Given the description of an element on the screen output the (x, y) to click on. 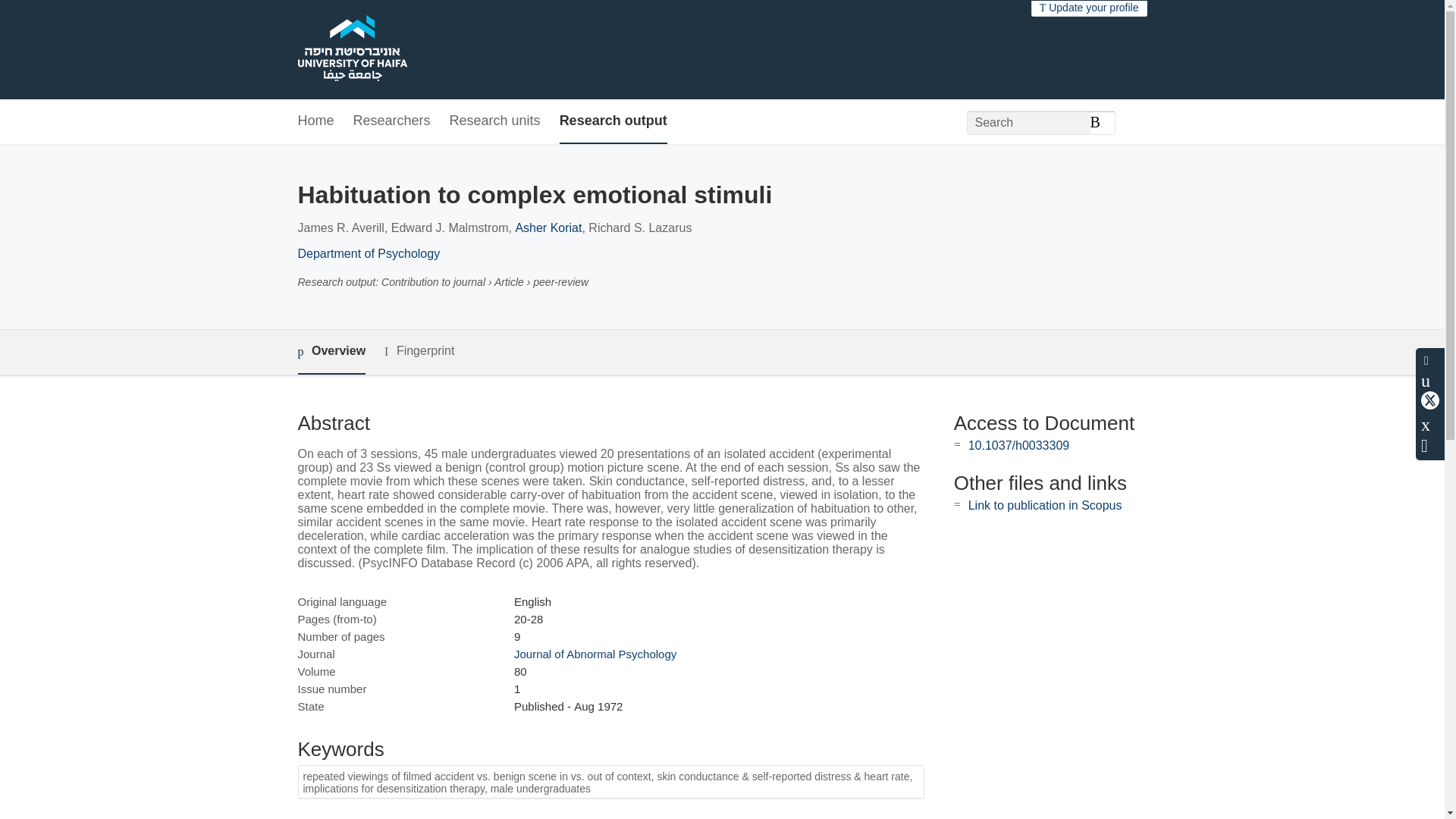
University of Haifa Home (351, 49)
Update your profile (1089, 7)
Research output (612, 121)
Overview (331, 352)
Researchers (391, 121)
Home (315, 121)
Link to publication in Scopus (1045, 504)
Department of Psychology (368, 253)
Journal of Abnormal Psychology (595, 653)
Asher Koriat (547, 227)
Fingerprint (419, 351)
Research units (494, 121)
